Given the description of an element on the screen output the (x, y) to click on. 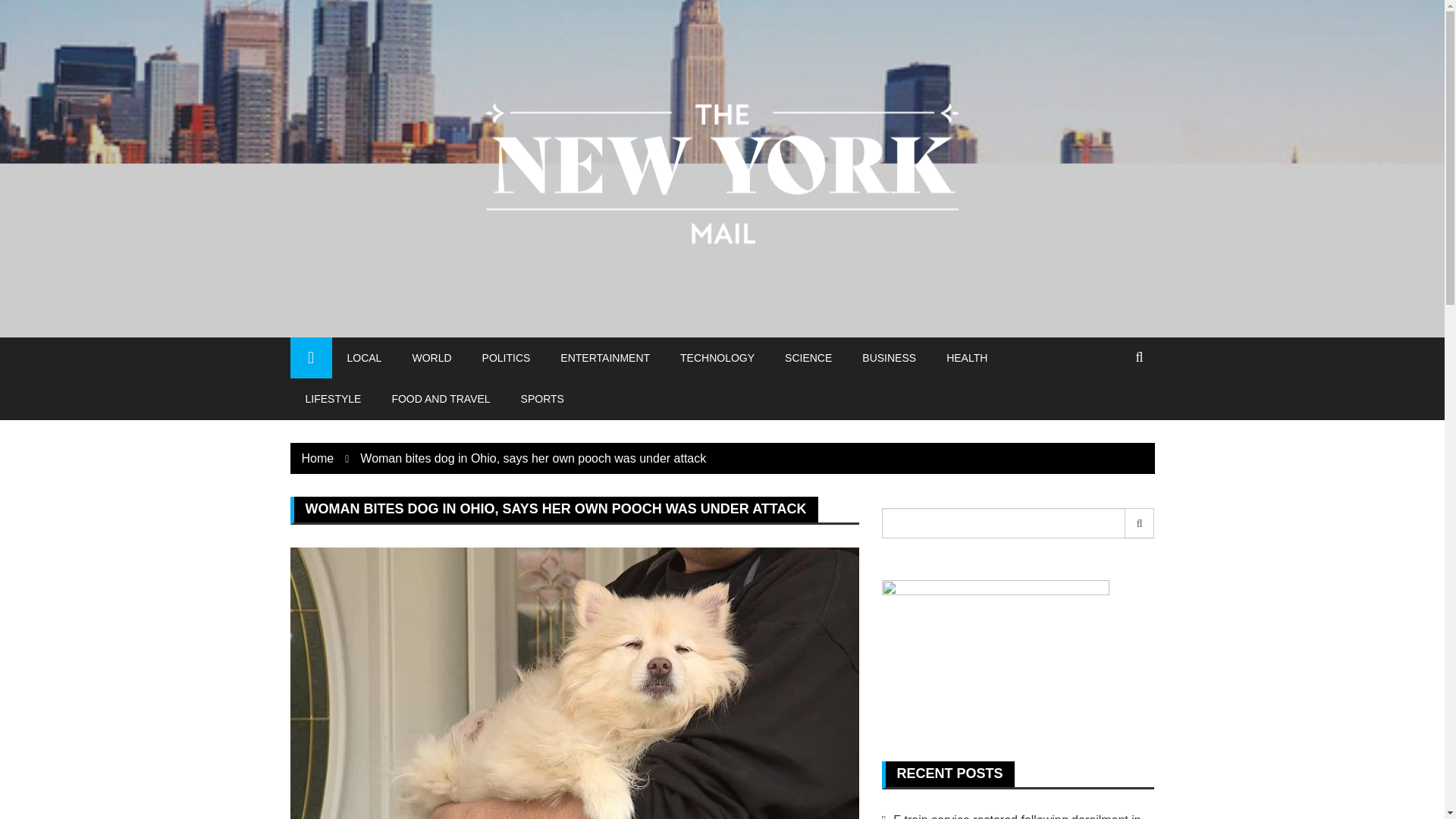
FOOD AND TRAVEL (440, 398)
HEALTH (967, 357)
TECHNOLOGY (717, 357)
ENTERTAINMENT (604, 357)
WORLD (430, 357)
Home (317, 458)
POLITICS (506, 357)
SPORTS (542, 398)
LIFESTYLE (332, 398)
Search (1139, 522)
BUSINESS (889, 357)
Woman bites dog in Ohio, says her own pooch was under attack (532, 458)
SCIENCE (808, 357)
LOCAL (364, 357)
